Given the description of an element on the screen output the (x, y) to click on. 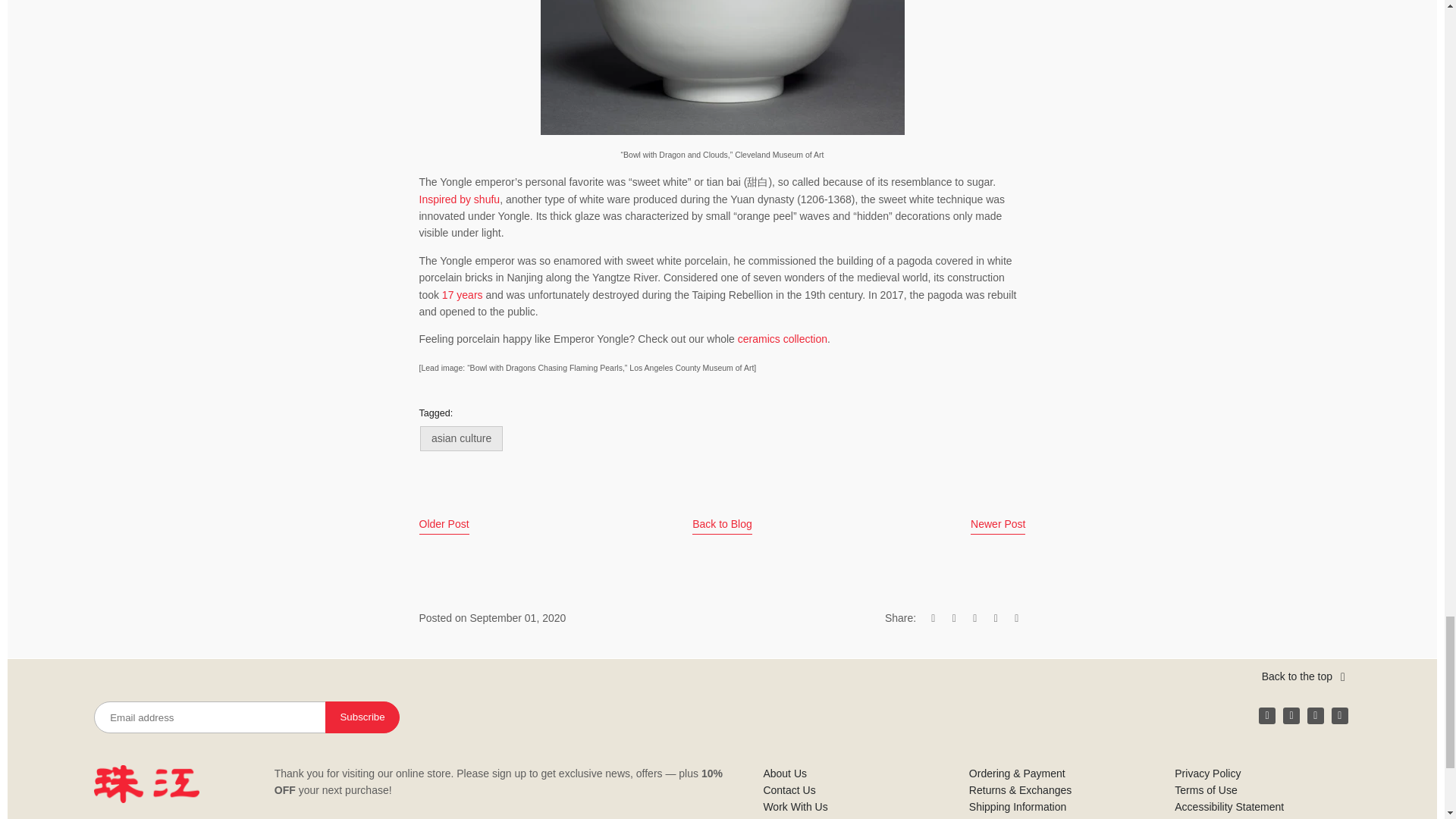
Instagram (1291, 715)
Facebook (1267, 715)
Share on Twitter (953, 617)
Show articles tagged asian culture (461, 438)
Share on Facebook (933, 617)
Pinterest (1340, 715)
Subscribe (361, 717)
Pin the main image (974, 617)
Share using email (1016, 617)
Twitter (1315, 715)
